Given the description of an element on the screen output the (x, y) to click on. 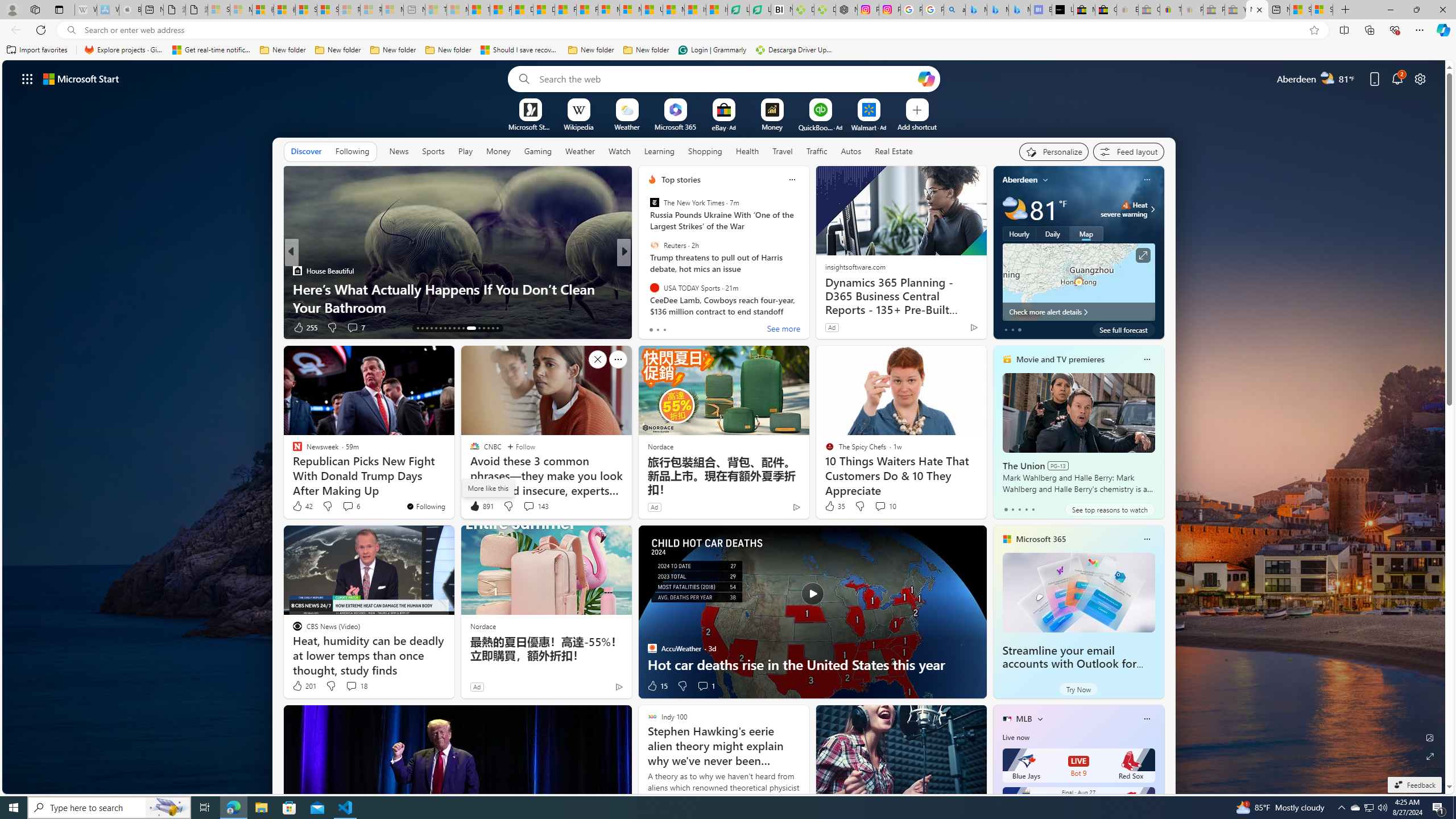
View comments 7 Comment (698, 327)
35 Like (834, 505)
13 Tips to Get a Raise (807, 307)
Nordace - Nordace Edin Collection (846, 9)
Nvidia va a poner a prueba la paciencia de los inversores (781, 9)
